Given the description of an element on the screen output the (x, y) to click on. 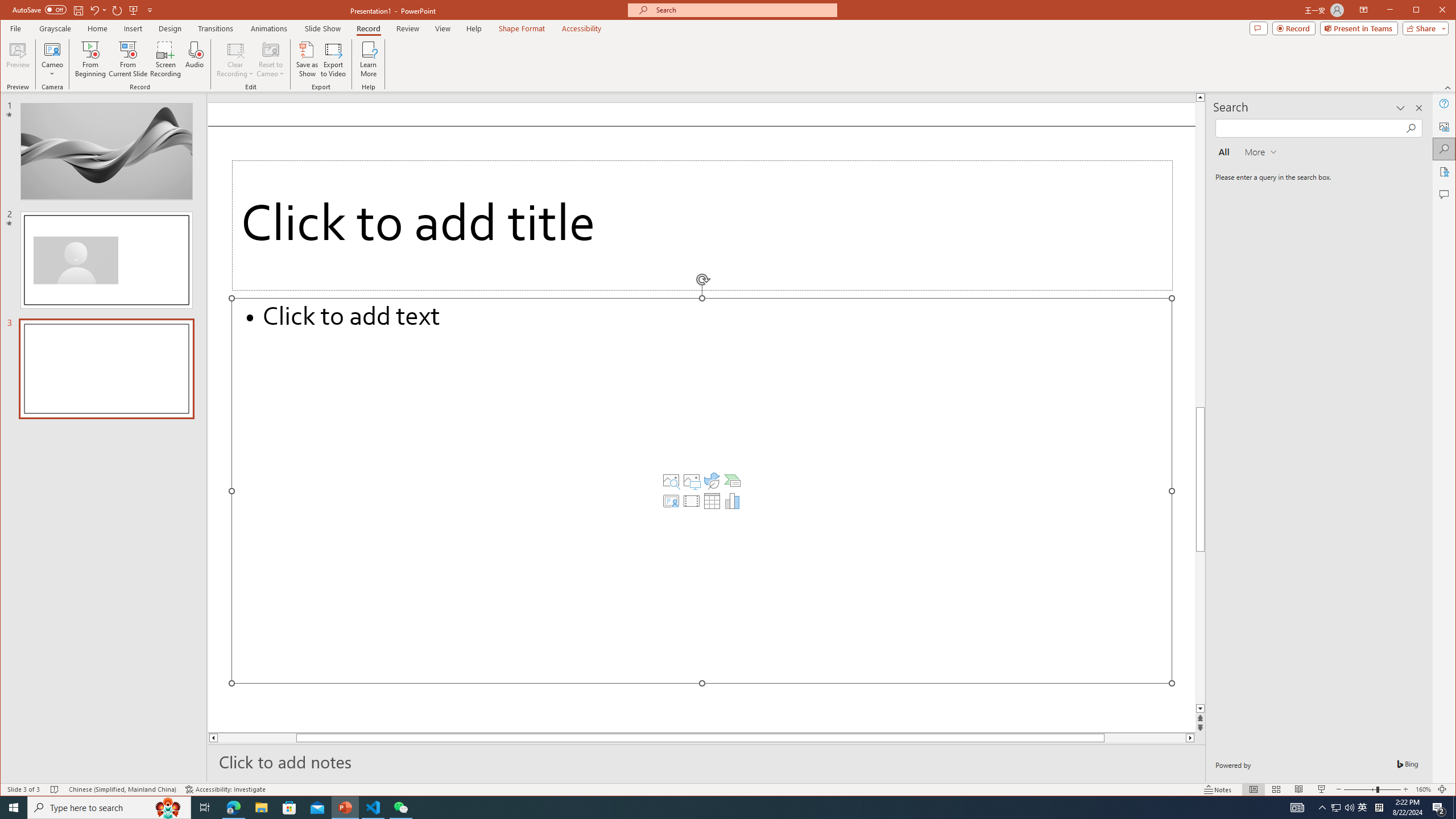
Task Pane Options (1400, 107)
Notes  (1217, 789)
Spell Check No Errors (55, 789)
Close pane (1418, 107)
User Promoted Notification Area (1342, 807)
Microsoft search (742, 10)
Reset to Cameo (269, 59)
Running applications (707, 807)
Slide Notes (706, 761)
Title TextBox (701, 225)
